Given the description of an element on the screen output the (x, y) to click on. 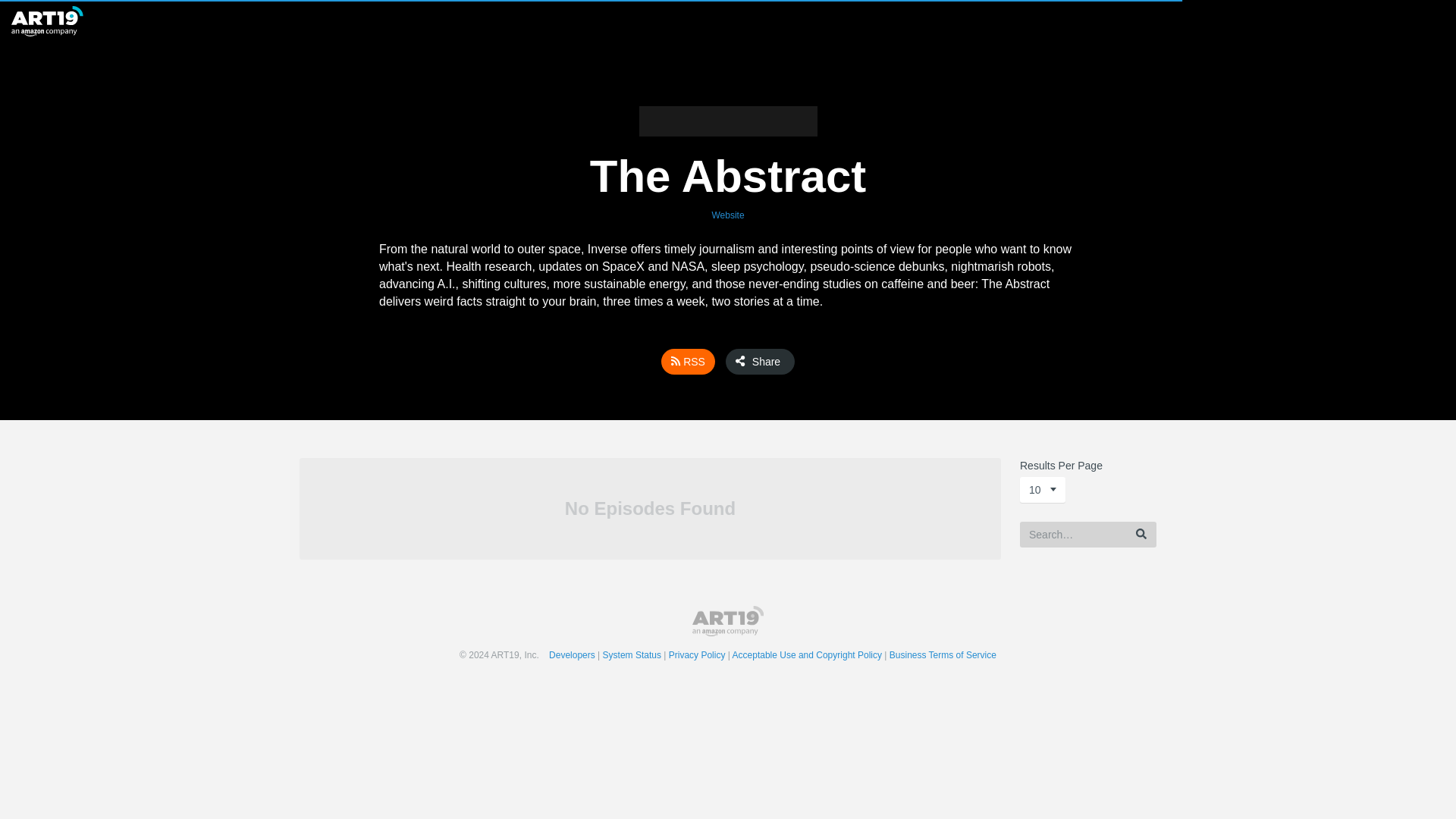
System Status (635, 655)
ART19 (728, 621)
Privacy Policy (700, 655)
Share (759, 361)
Website (727, 214)
Business Terms of Service (942, 655)
Developers (575, 655)
Acceptable Use and Copyright Policy (810, 655)
Share on Facebook (773, 361)
RSS (687, 361)
